Given the description of an element on the screen output the (x, y) to click on. 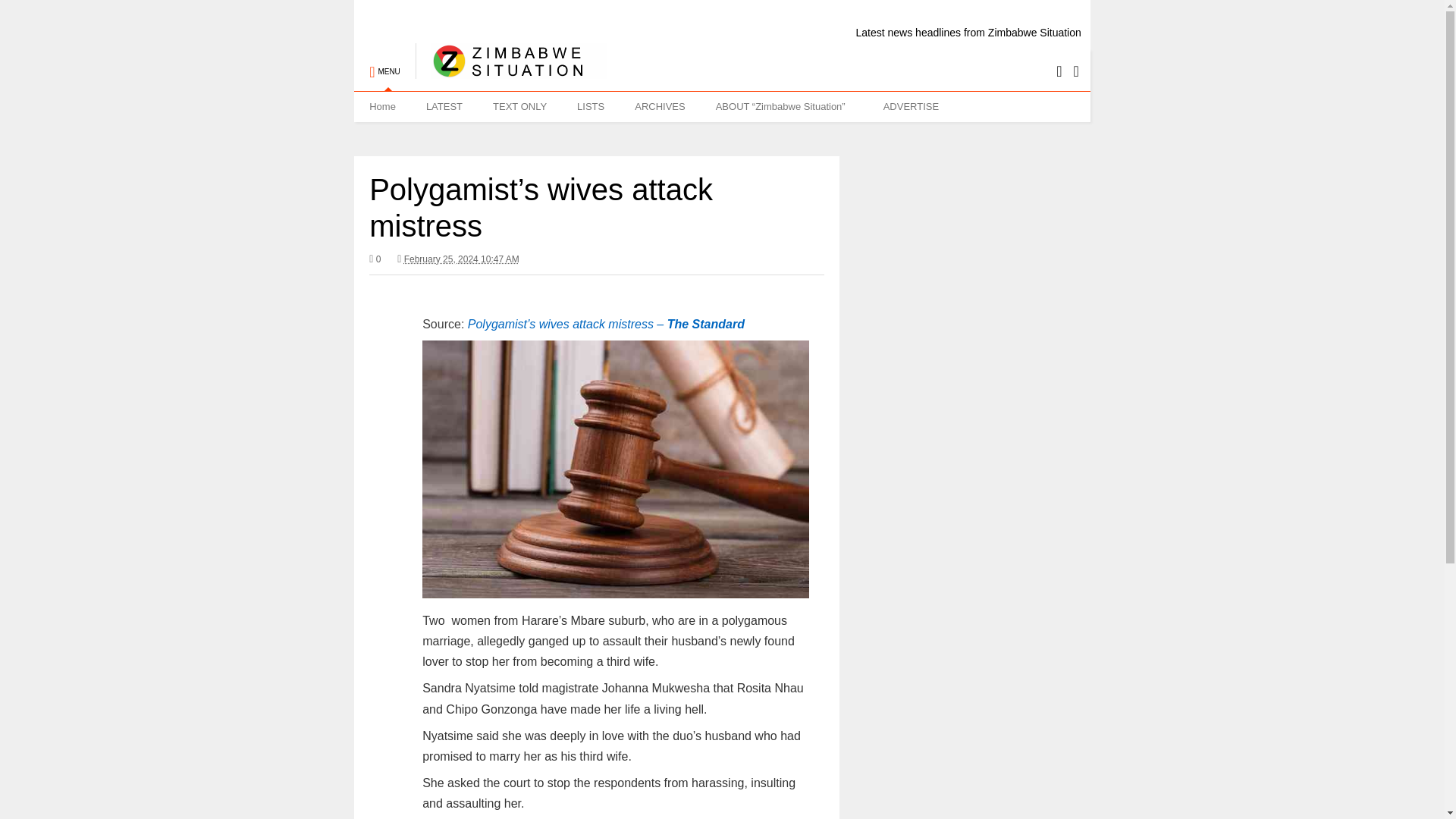
February 25, 2024 10:47 AM (458, 258)
ARCHIVES (660, 106)
LATEST (443, 106)
MENU (383, 65)
LISTS (591, 106)
Home (381, 106)
ADVERTISE (910, 106)
Zimbabwe Situation (510, 71)
TEXT ONLY (519, 106)
February 25, 2024 10:35 AM (461, 258)
